Given the description of an element on the screen output the (x, y) to click on. 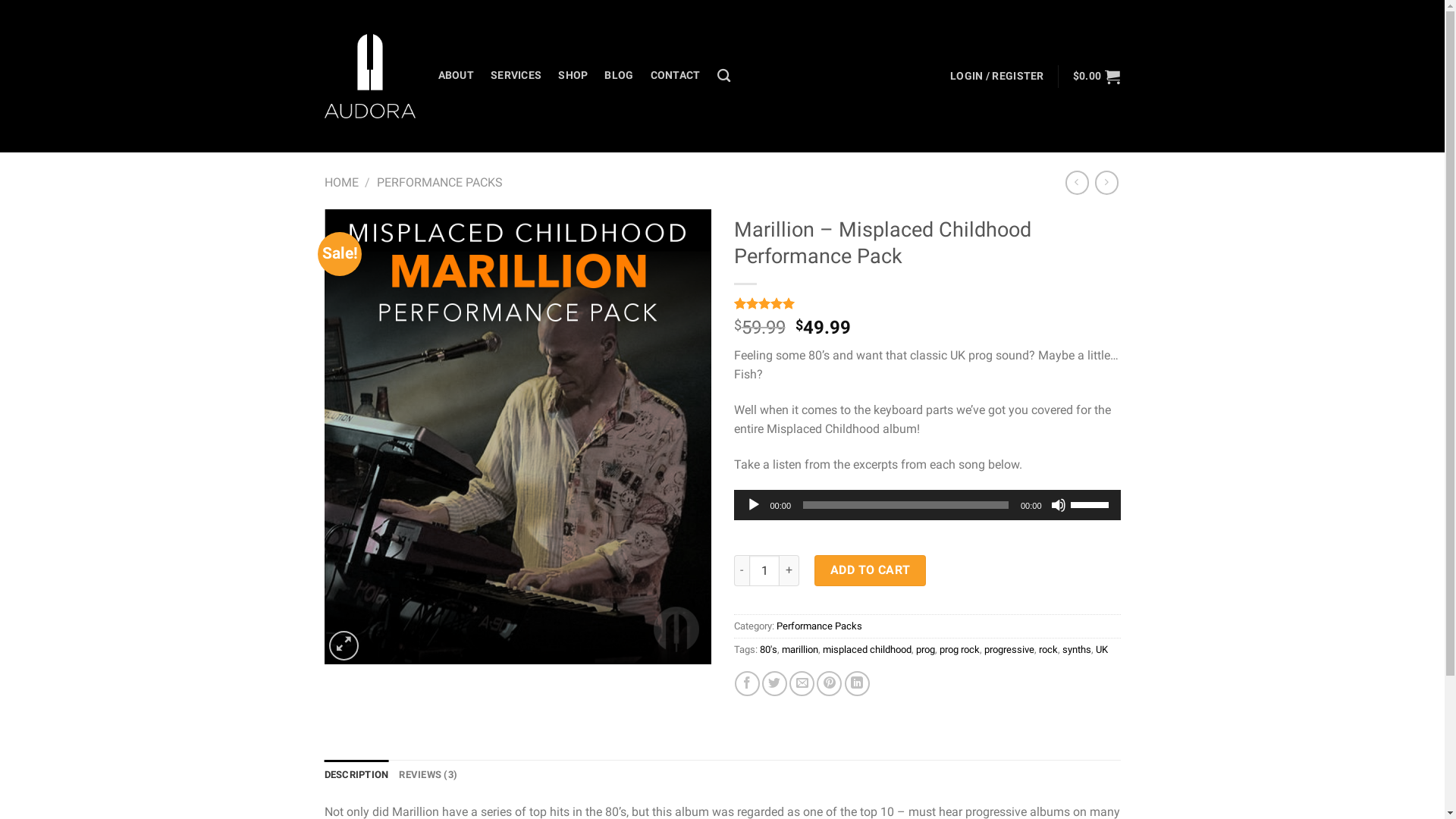
SERVICES Element type: text (515, 75)
Email to a Friend Element type: hover (801, 683)
prog Element type: text (925, 649)
Performance Packs Element type: text (819, 625)
ABOUT Element type: text (455, 75)
synths Element type: text (1075, 649)
Share on Twitter Element type: hover (774, 683)
80's Element type: text (768, 649)
marillion Element type: text (799, 649)
Share on LinkedIn Element type: hover (856, 683)
MisplacedMarillionPerfPack Element type: hover (517, 436)
Play Element type: hover (753, 504)
$0.00 Element type: text (1096, 75)
BLOG Element type: text (618, 75)
REVIEWS (3) Element type: text (427, 774)
CONTACT Element type: text (675, 75)
ADD TO CART Element type: text (869, 570)
Audora - Your home for custom synthesis and learning! Element type: hover (369, 75)
progressive Element type: text (1009, 649)
misplaced childhood Element type: text (866, 649)
Mute Element type: hover (1058, 504)
Rated out of 5 based on
3
customer ratings Element type: text (927, 303)
Zoom Element type: hover (343, 645)
SHOP Element type: text (572, 75)
Share on Facebook Element type: hover (746, 683)
Use Up/Down Arrow keys to increase or decrease volume. Element type: text (1091, 503)
prog rock Element type: text (958, 649)
HOME Element type: text (341, 182)
LOGIN / REGISTER Element type: text (997, 75)
UK Element type: text (1101, 649)
rock Element type: text (1047, 649)
PERFORMANCE PACKS Element type: text (439, 182)
DESCRIPTION Element type: text (356, 774)
Pin on Pinterest Element type: hover (828, 683)
